Given the description of an element on the screen output the (x, y) to click on. 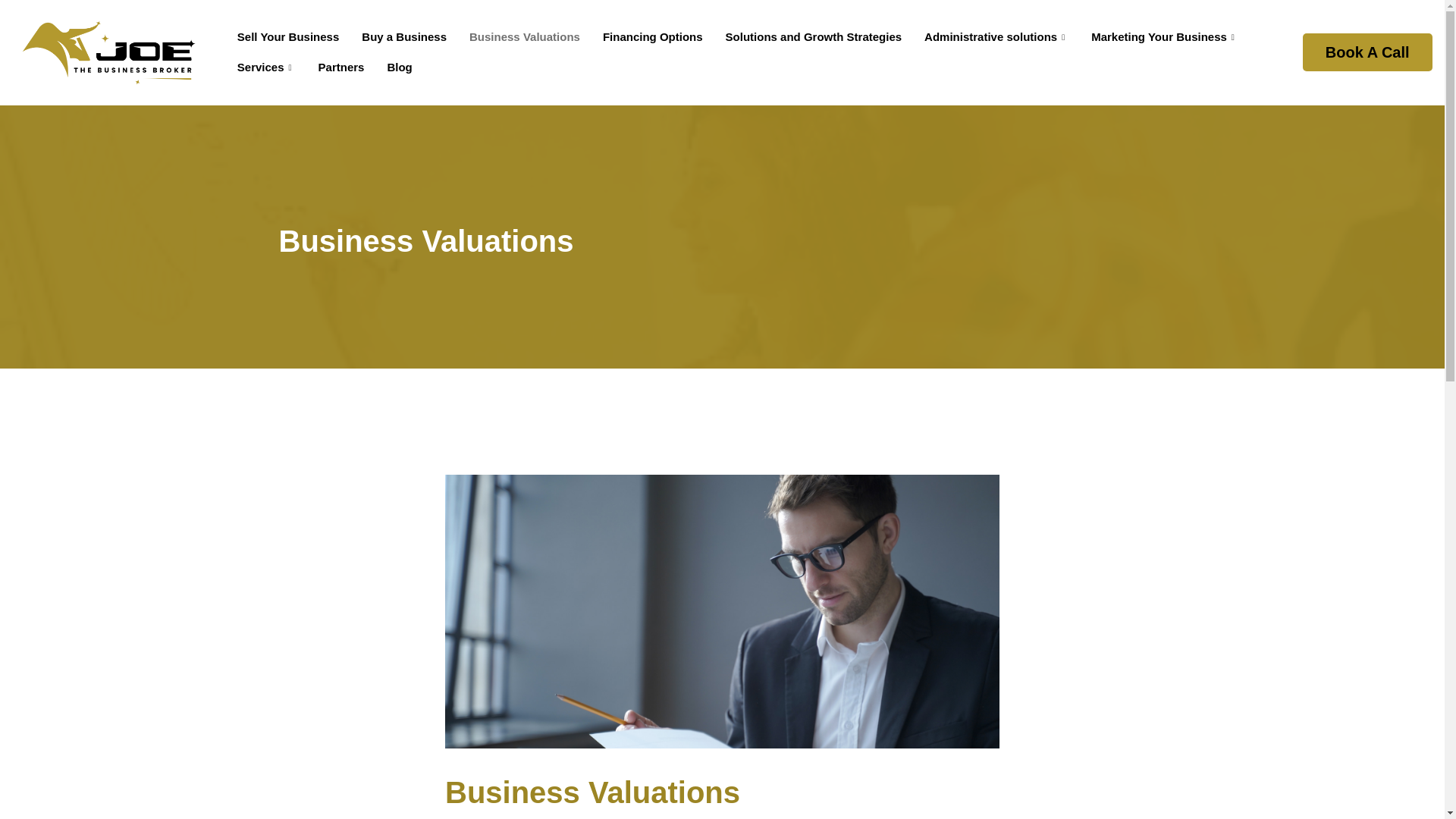
Financing Options (652, 37)
Services (266, 67)
Partners (341, 67)
Book A Call (1367, 52)
Business Valuations (524, 37)
Marketing Your Business (1164, 37)
Buy a Business (404, 37)
Blog (399, 67)
Administrative solutions (996, 37)
Sell Your Business (287, 37)
Solutions and Growth Strategies (814, 37)
